Given the description of an element on the screen output the (x, y) to click on. 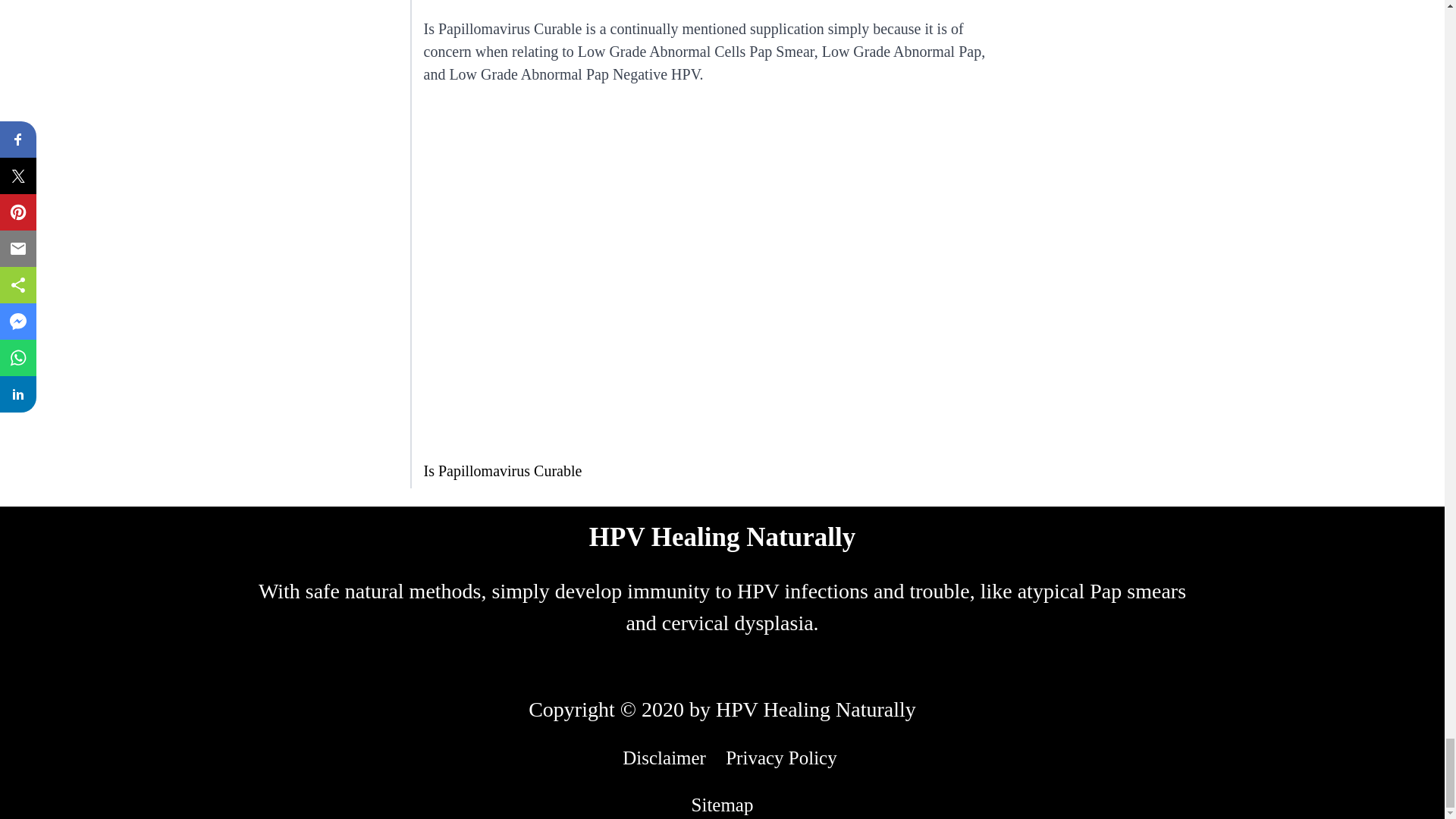
Sitemap (722, 804)
Disclaimer (664, 757)
Is Papillomavirus Curable (501, 470)
Privacy Policy (781, 757)
HPV Healing Naturally (722, 537)
